Given the description of an element on the screen output the (x, y) to click on. 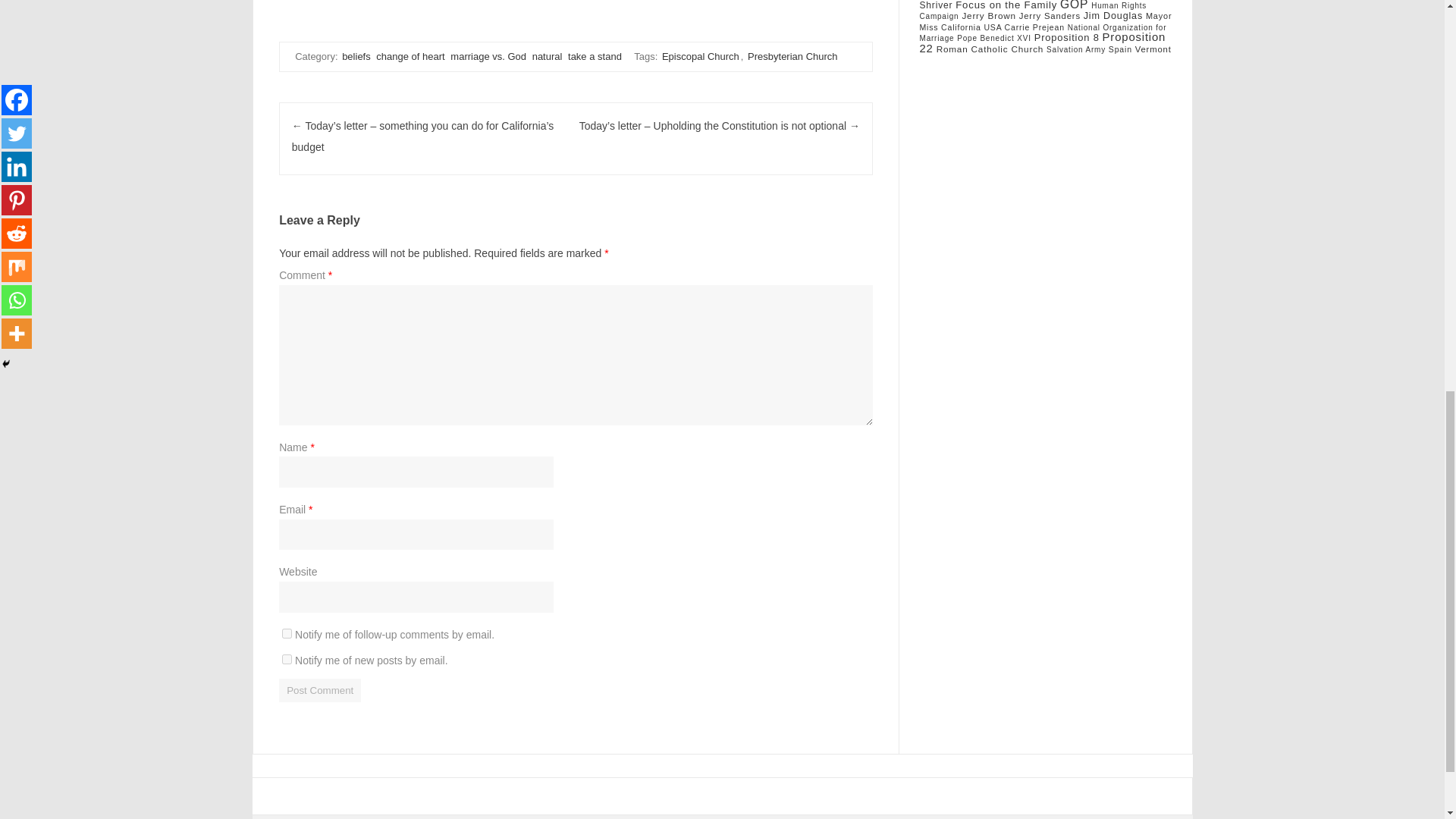
change of heart (409, 56)
beliefs (356, 56)
take a stand (594, 56)
subscribe (287, 659)
Post Comment (320, 689)
subscribe (287, 633)
natural (547, 56)
marriage vs. God (487, 56)
